Given the description of an element on the screen output the (x, y) to click on. 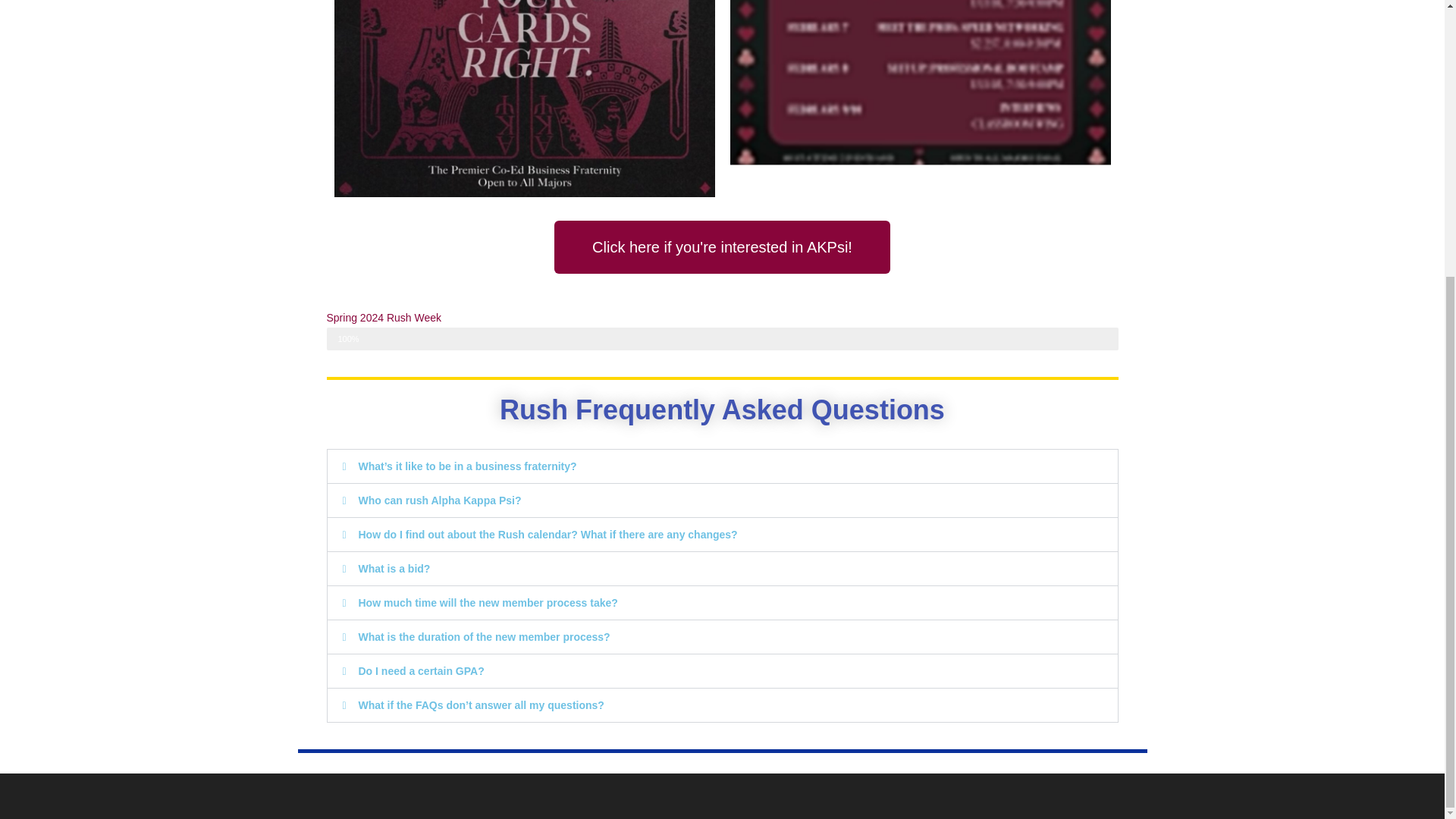
Do I need a certain GPA? (420, 671)
What is a bid? (393, 568)
Who can rush Alpha Kappa Psi? (439, 500)
How much time will the new member process take? (487, 603)
What is the duration of the new member process? (484, 636)
Click here if you're interested in AKPsi! (721, 246)
